Given the description of an element on the screen output the (x, y) to click on. 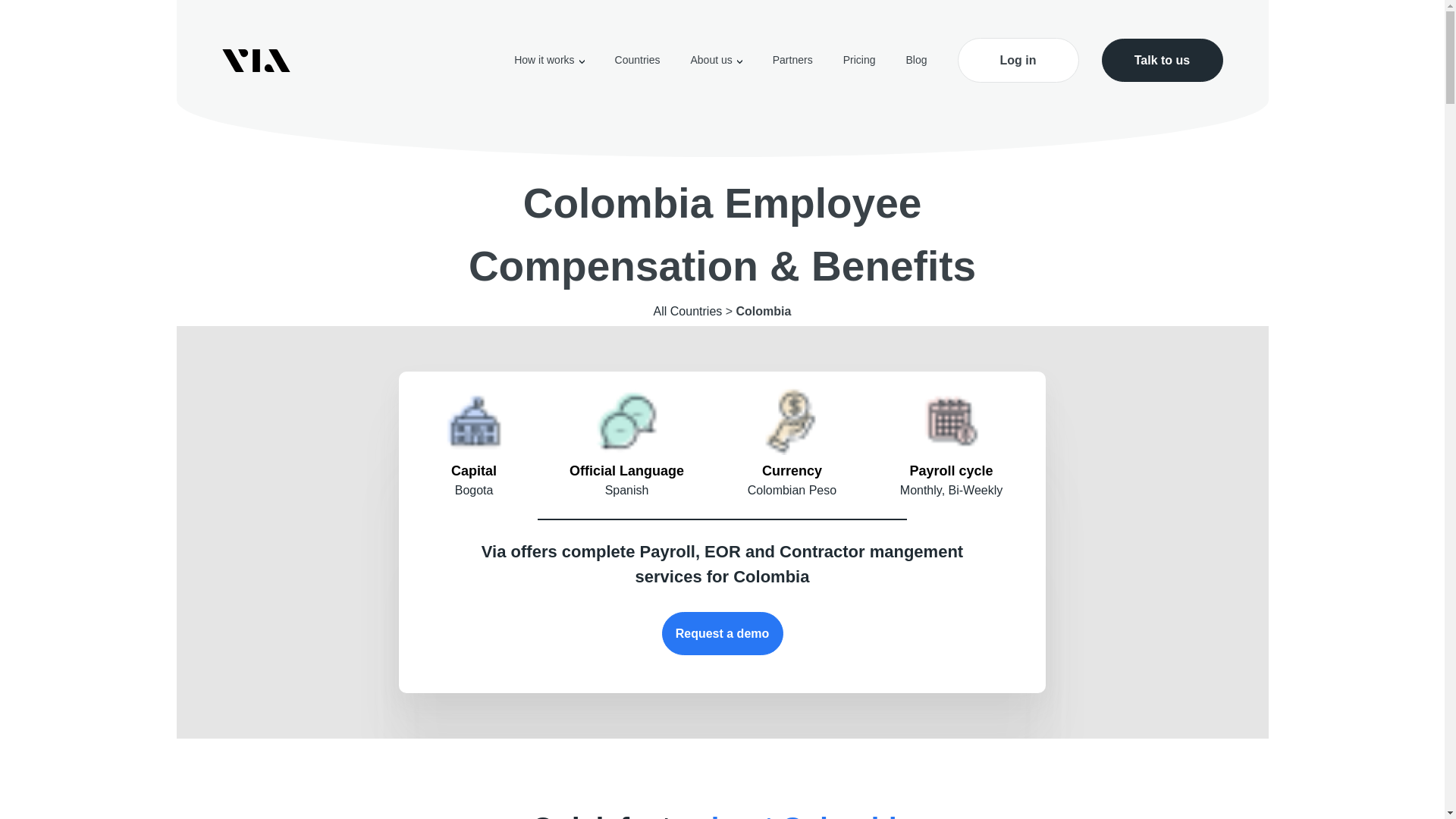
Countries (637, 60)
Blog (915, 60)
Pricing (859, 60)
Log in (1017, 59)
Talk to us (1161, 59)
Request a demo (722, 633)
All Countries (687, 310)
Partners (792, 60)
